Given the description of an element on the screen output the (x, y) to click on. 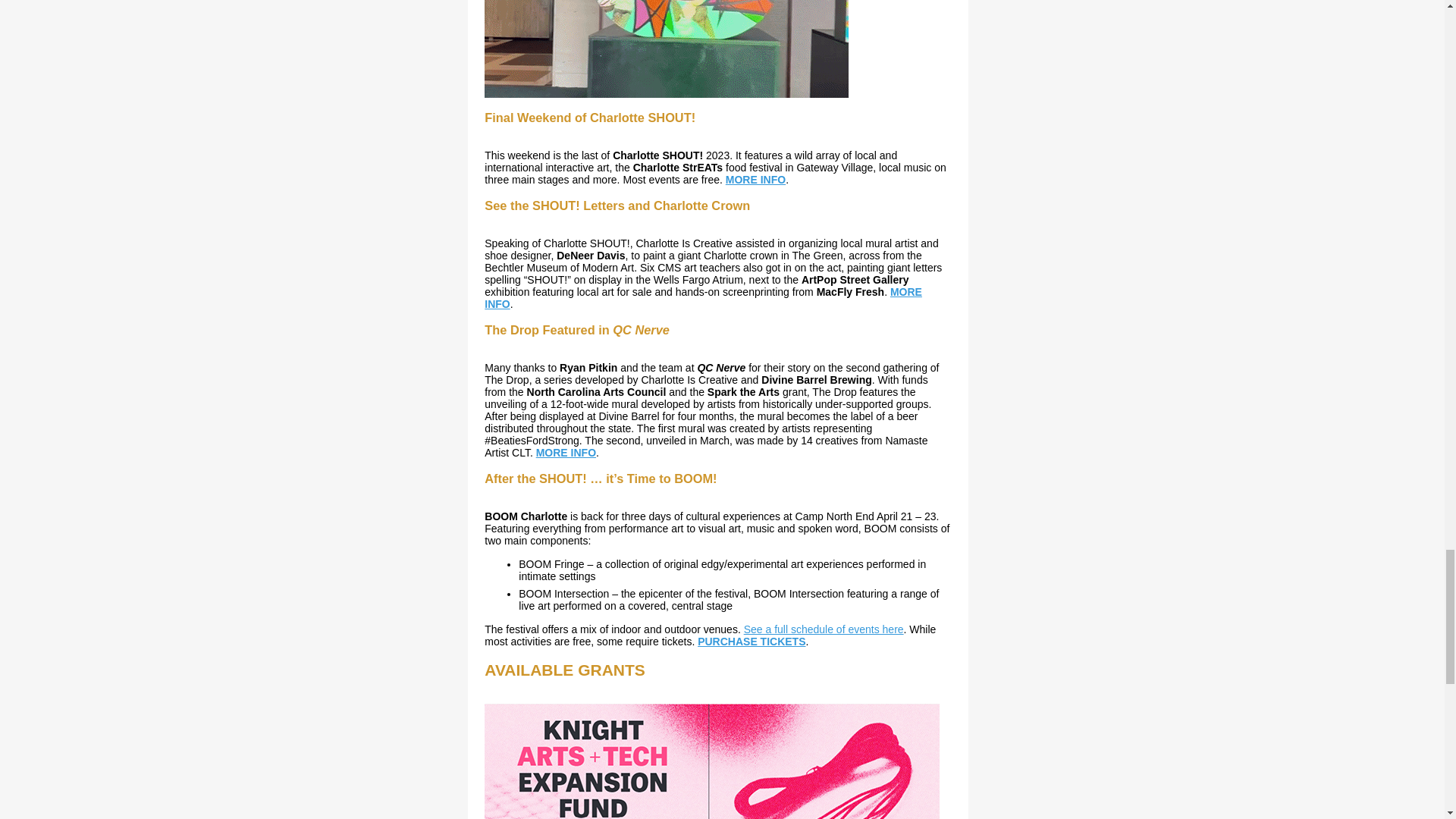
MORE INFO (565, 452)
MORE INFO (702, 297)
See a full schedule of events here (824, 629)
MORE INFO (755, 179)
PURCHASE TICKETS (751, 641)
